Given the description of an element on the screen output the (x, y) to click on. 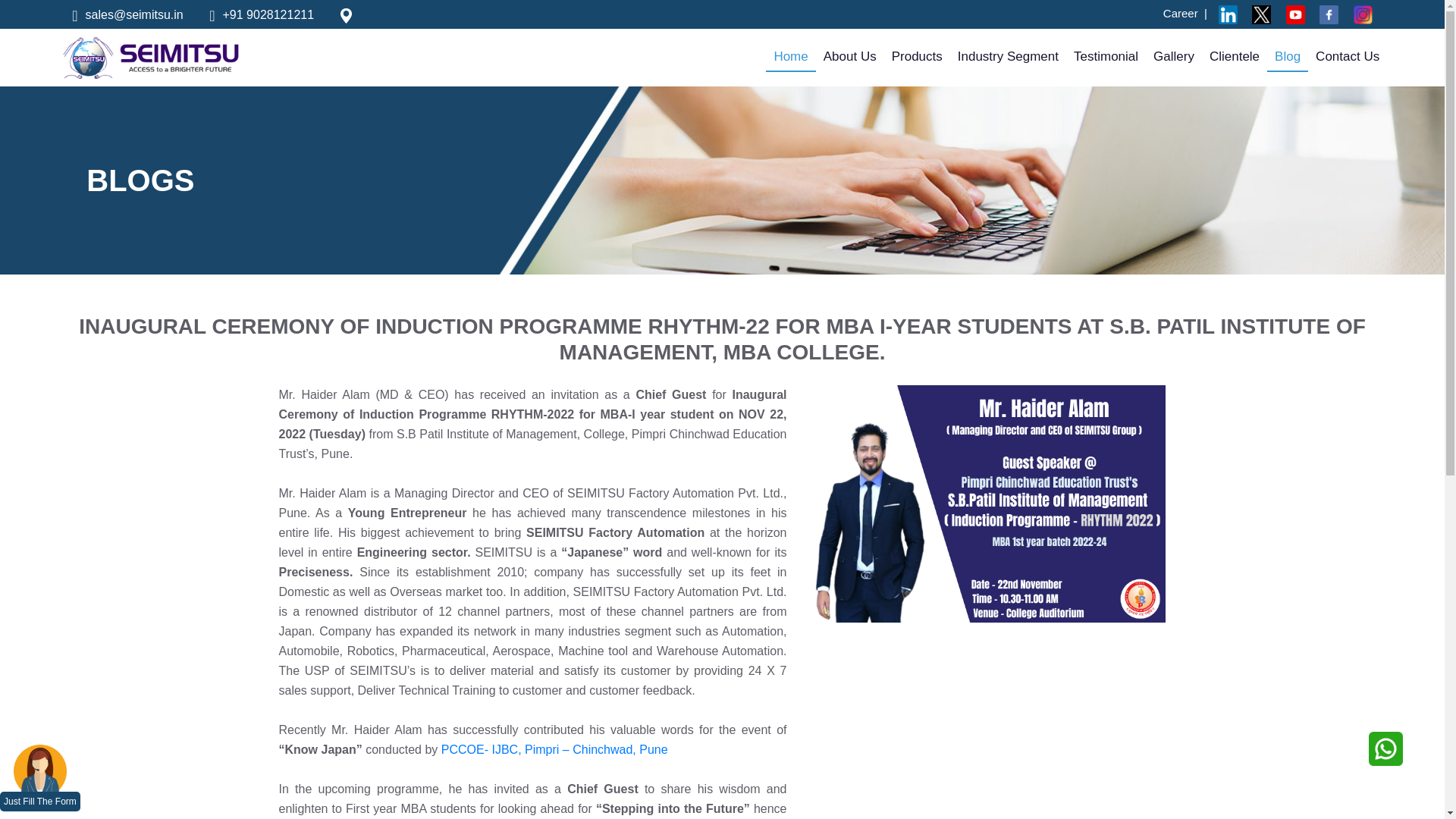
Gallery (1173, 56)
Clientele (1234, 56)
Testimonial (1105, 56)
Contact Us (1347, 56)
Home (790, 57)
Products (916, 56)
Blog (1286, 57)
About Us (849, 56)
Industry Segment (1007, 56)
